Given the description of an element on the screen output the (x, y) to click on. 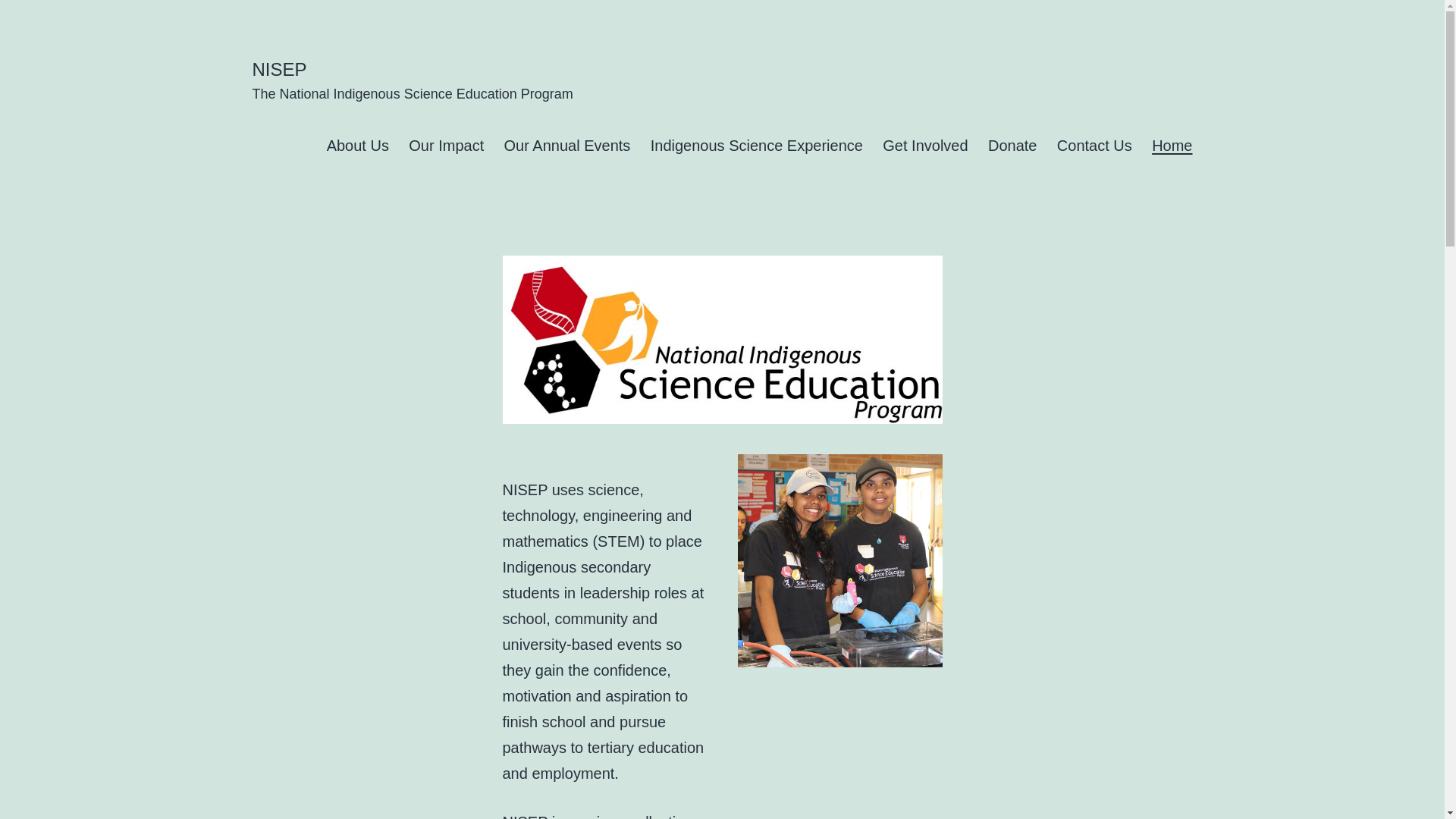
Indigenous Science Experience Element type: text (756, 144)
About Us Element type: text (357, 144)
Home Element type: text (1172, 144)
Our Impact Element type: text (445, 144)
Our Annual Events Element type: text (566, 144)
Contact Us Element type: text (1094, 144)
Donate Element type: text (1012, 144)
Get Involved Element type: text (925, 144)
